Given the description of an element on the screen output the (x, y) to click on. 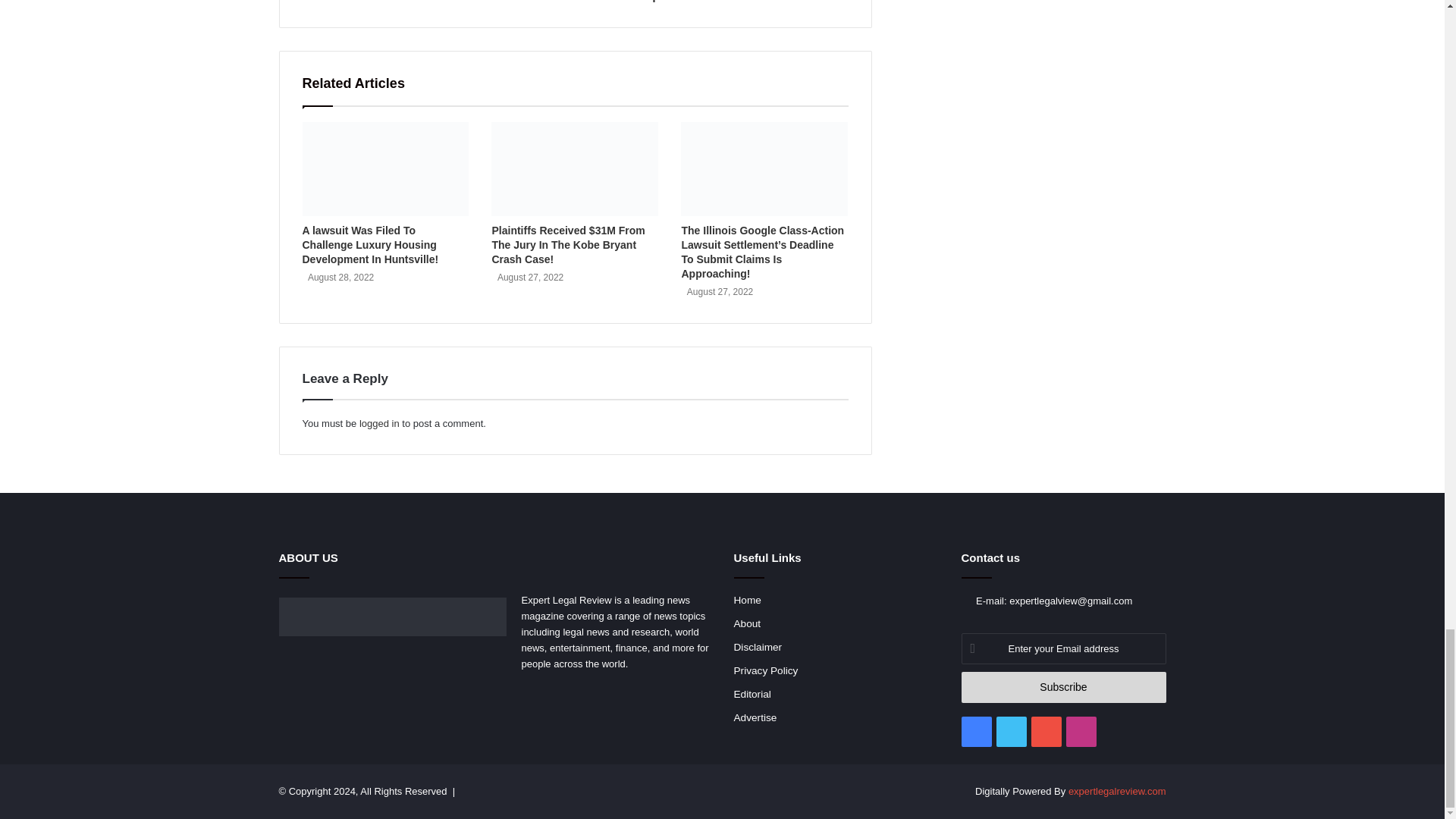
Subscribe (1063, 686)
Brooklyn Subway Mass Shooting Suspect Frank James Indicted (717, 2)
